Given the description of an element on the screen output the (x, y) to click on. 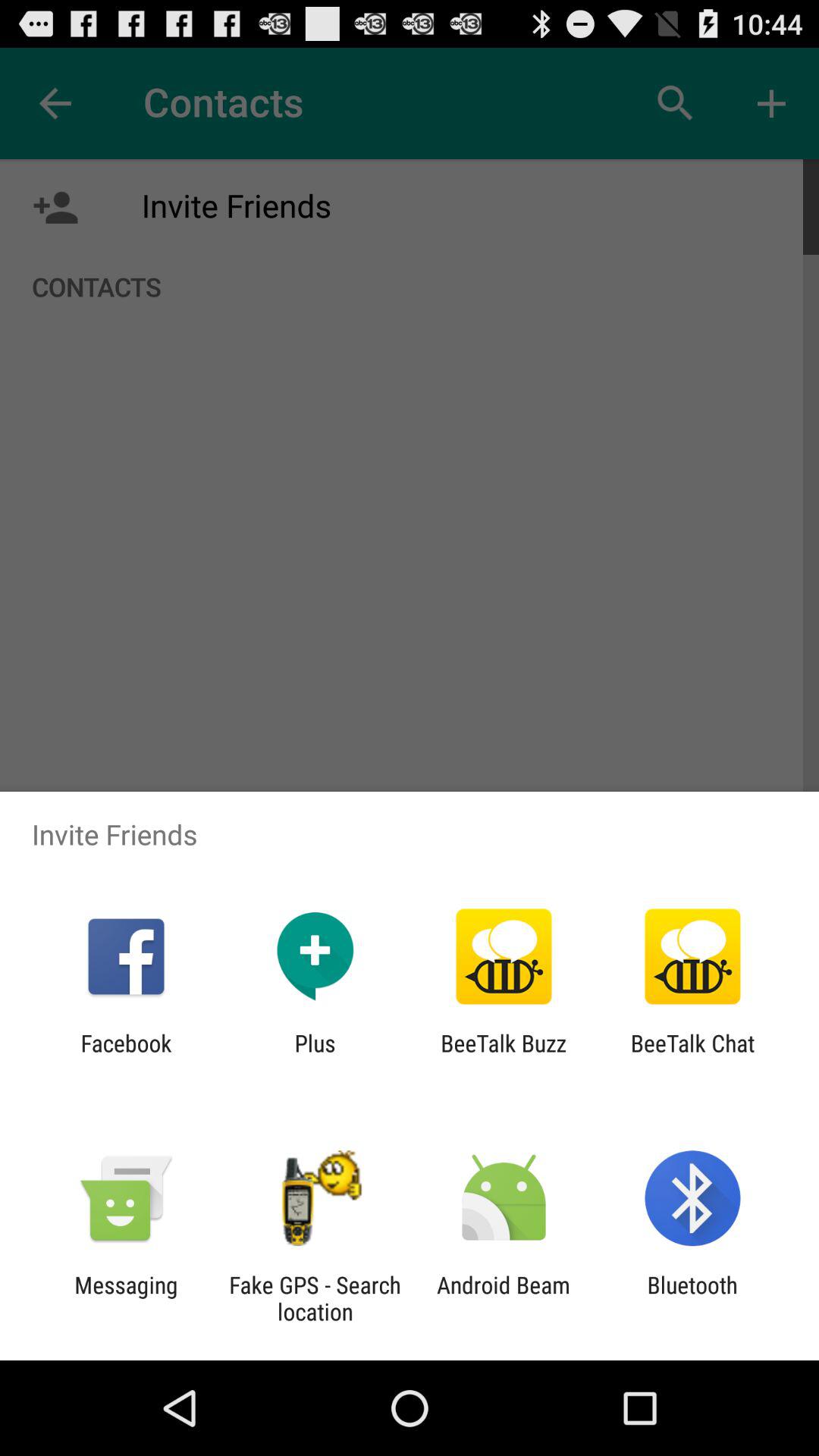
select the item to the left of fake gps search app (126, 1298)
